Given the description of an element on the screen output the (x, y) to click on. 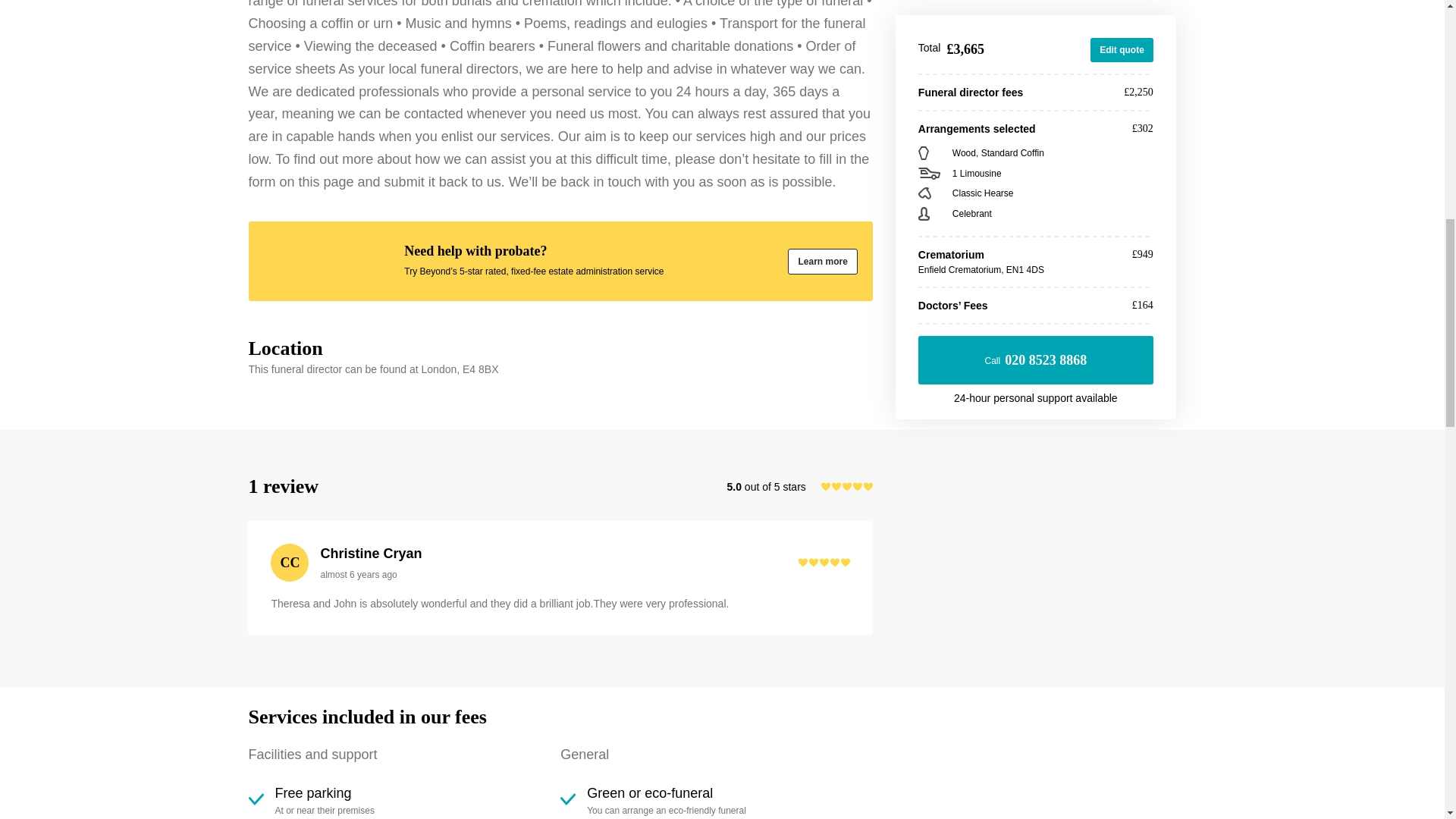
2018-09-12 00:00 (358, 574)
Learn more (822, 261)
